Given the description of an element on the screen output the (x, y) to click on. 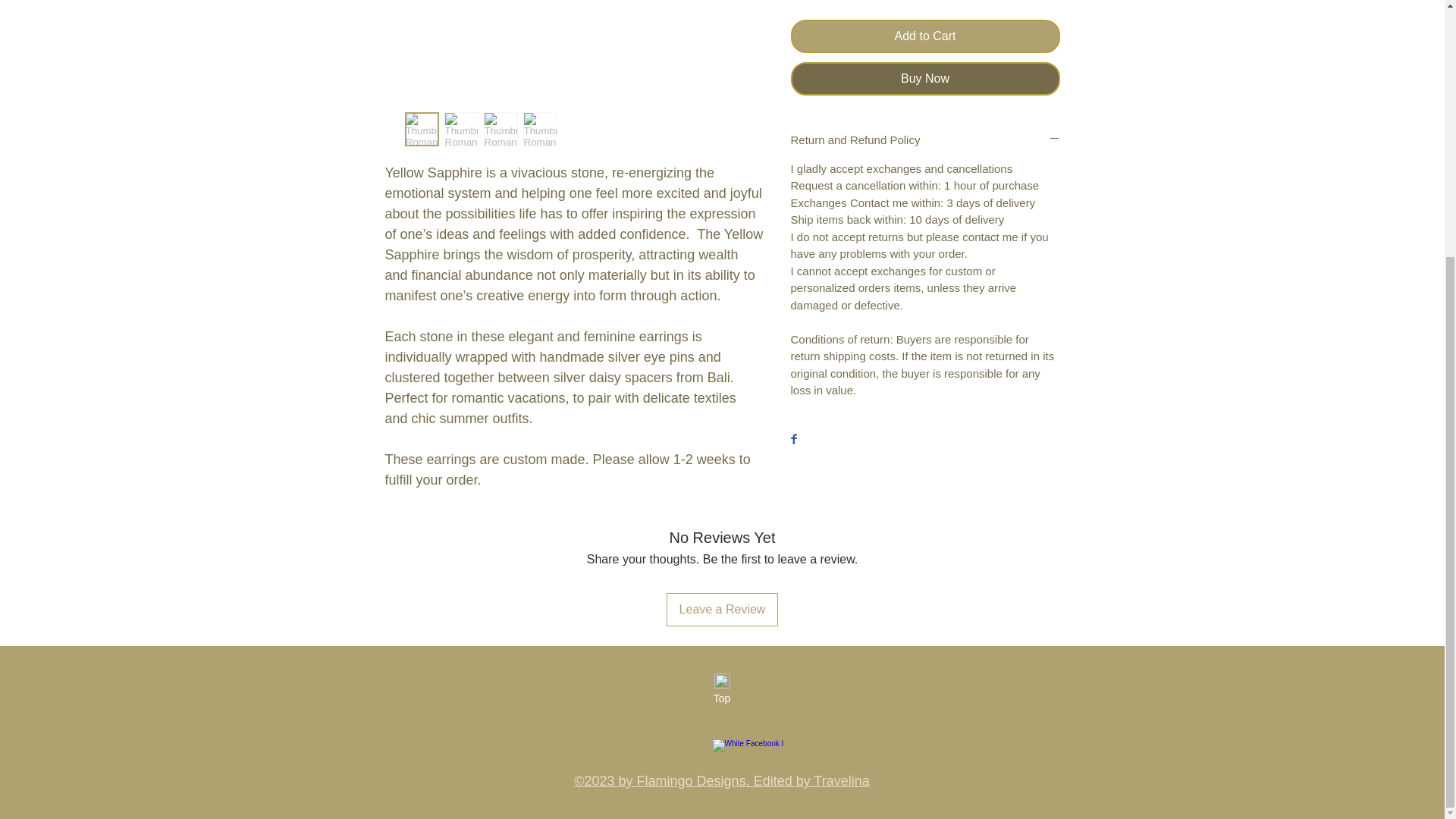
Add to Cart (924, 36)
Top (721, 698)
Buy Now (924, 78)
Return and Refund Policy (924, 139)
Leave a Review (722, 609)
